Given the description of an element on the screen output the (x, y) to click on. 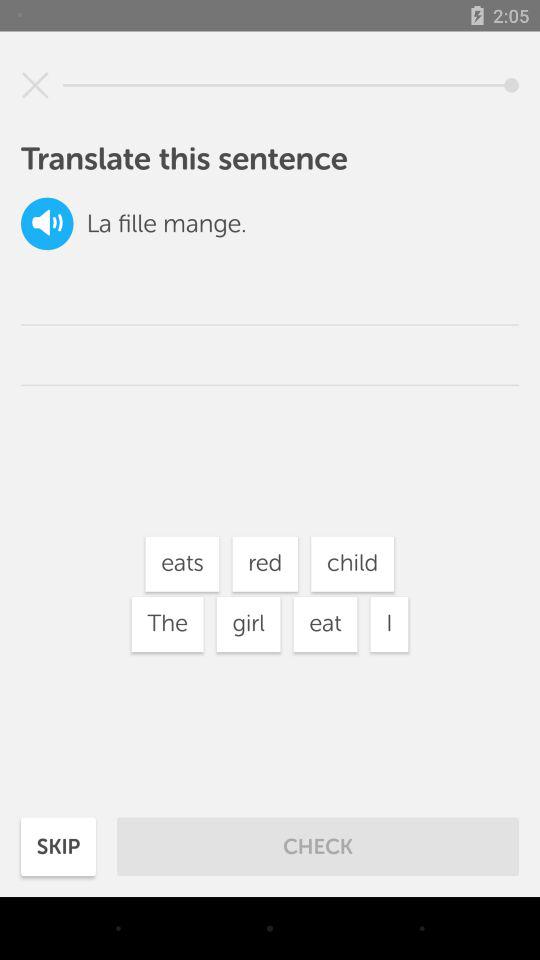
turn off the item above the eat item (352, 563)
